Given the description of an element on the screen output the (x, y) to click on. 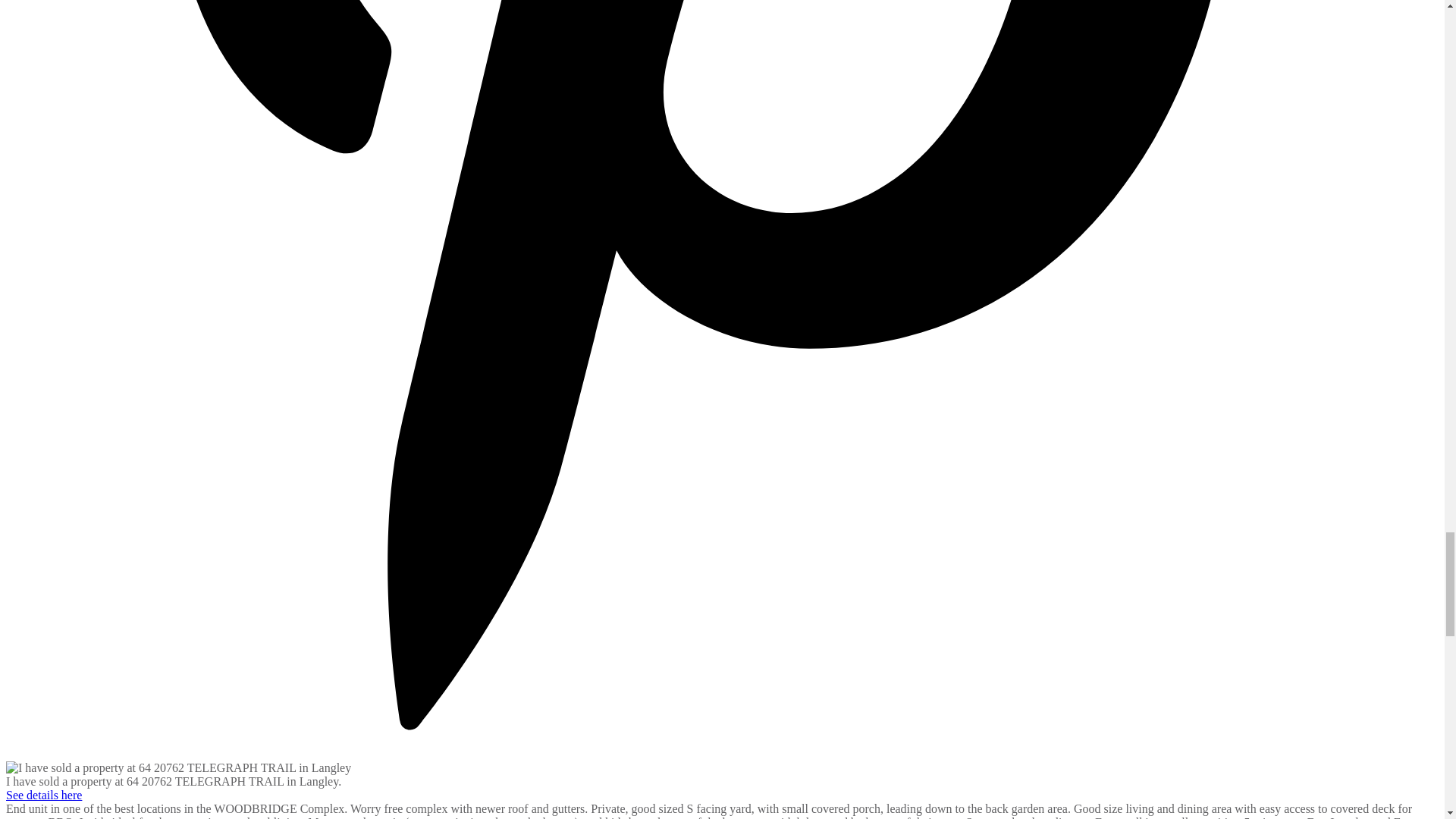
See details here (43, 794)
